Given the description of an element on the screen output the (x, y) to click on. 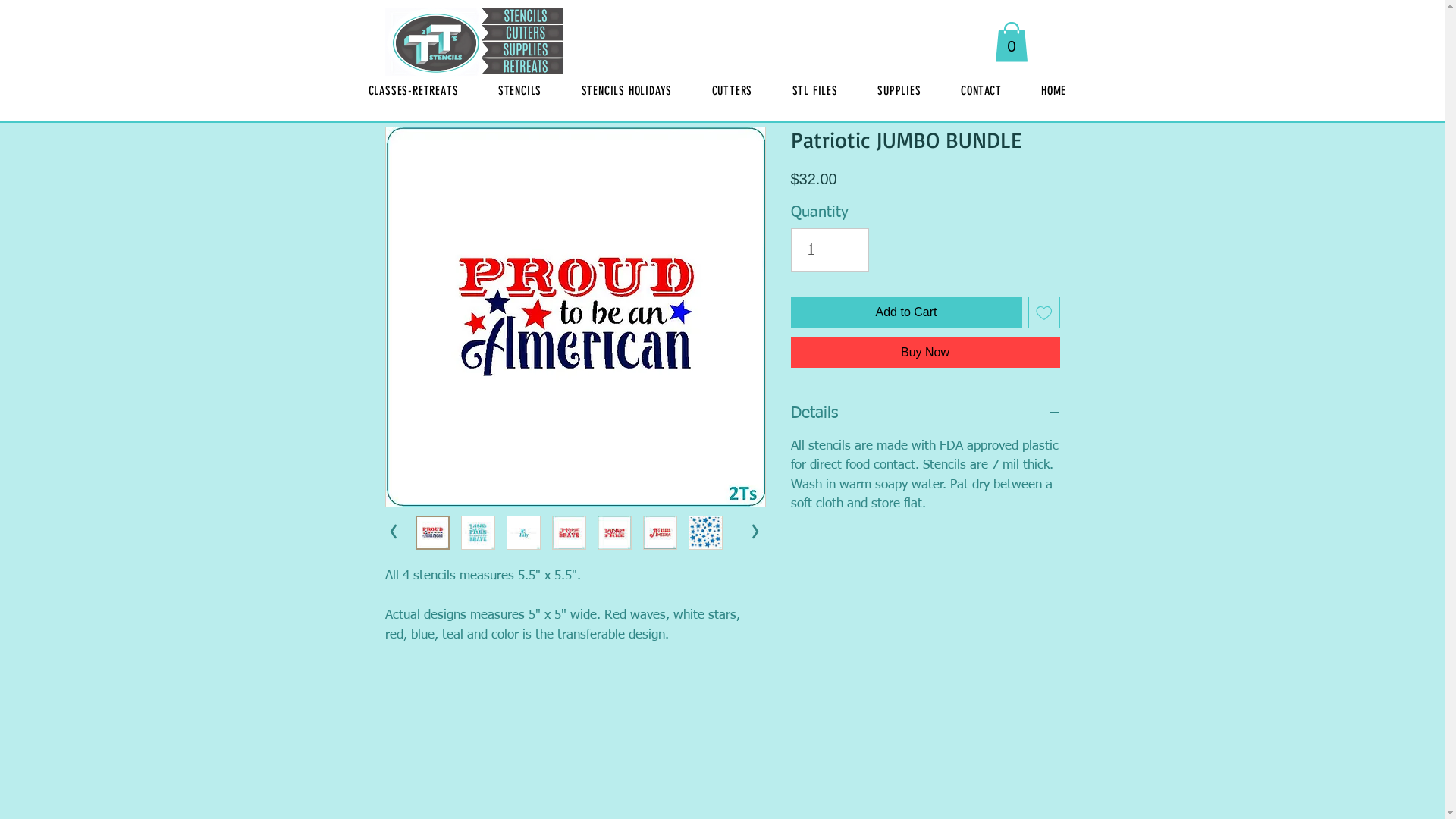
CONTACT Element type: text (981, 90)
STL FILES Element type: text (814, 90)
Buy Now Element type: text (924, 352)
Add to Cart Element type: text (905, 312)
CLASSES-RETREATS Element type: text (413, 90)
STENCILS HOLIDAYS Element type: text (626, 90)
Details Element type: text (924, 413)
HOME Element type: text (1053, 90)
0 Element type: text (1011, 41)
CUTTERS Element type: text (731, 90)
STENCILS Element type: text (519, 90)
SUPPLIES Element type: text (899, 90)
